Given the description of an element on the screen output the (x, y) to click on. 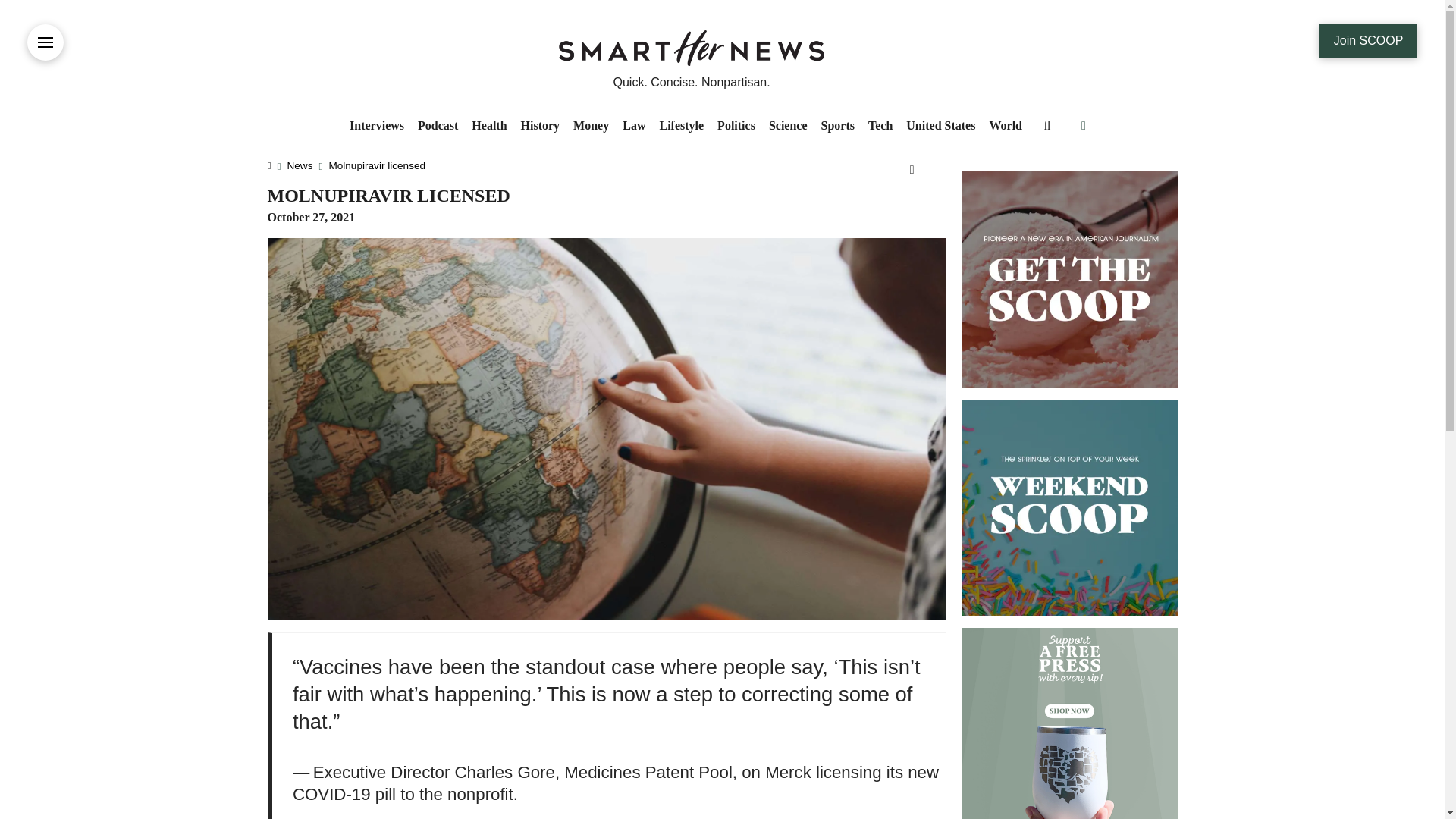
Sports (837, 125)
Science (787, 125)
History (540, 125)
Podcast (437, 125)
News (299, 165)
Lifestyle (681, 125)
United States (940, 125)
Interviews (376, 125)
World (1005, 125)
Tech (880, 125)
Molnupiravir licensed (377, 165)
Money (590, 125)
You Are Here (377, 165)
Politics (735, 125)
Join SCOOP (1367, 40)
